Given the description of an element on the screen output the (x, y) to click on. 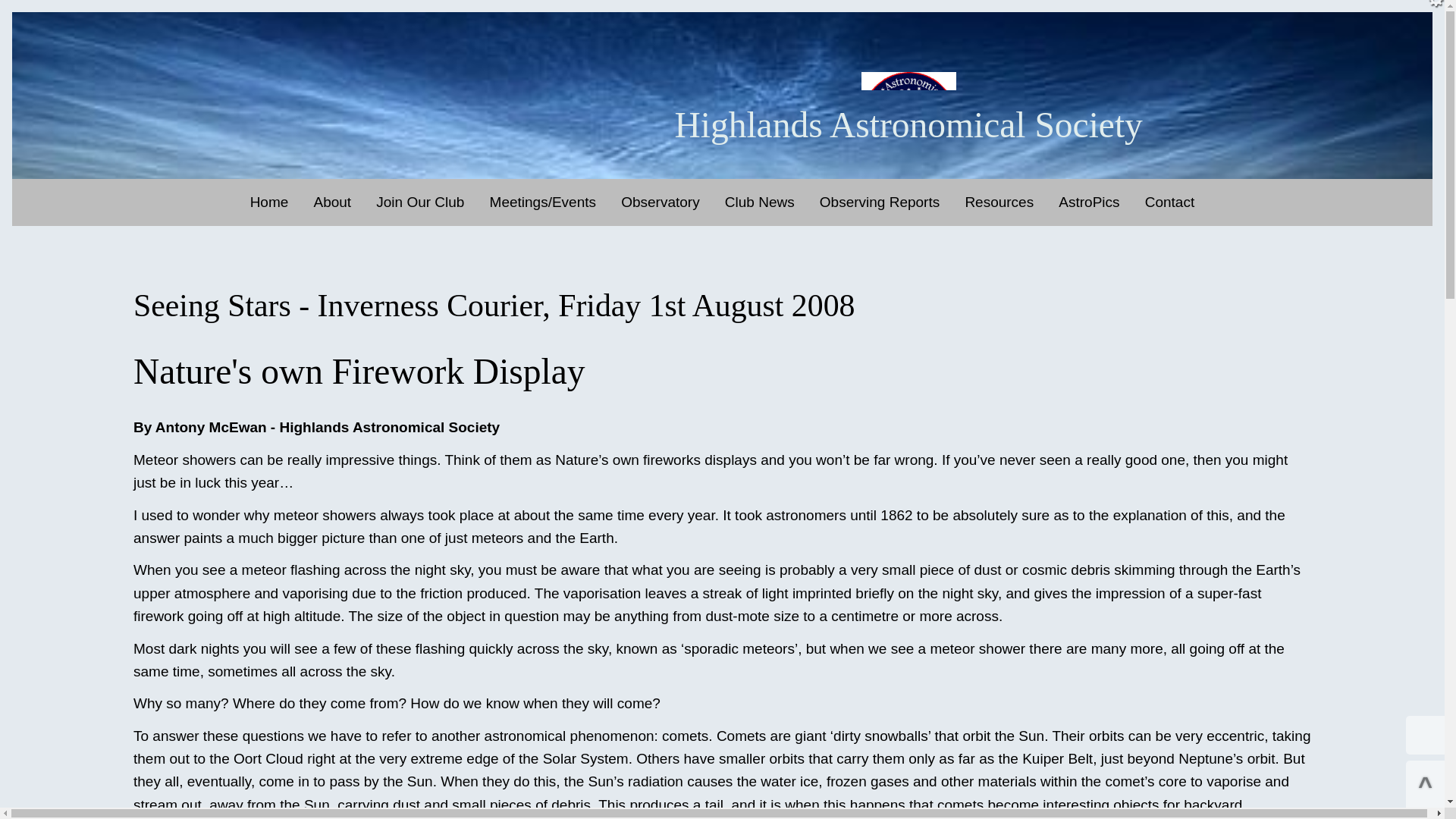
Observing Reports (880, 202)
Home (269, 202)
Aurora Gallery (1123, 239)
AstroPics (1088, 202)
About (331, 202)
Club News (759, 202)
Documentation (1030, 239)
Resources (998, 202)
Society Activities (377, 239)
Join Our Club (420, 202)
